Given the description of an element on the screen output the (x, y) to click on. 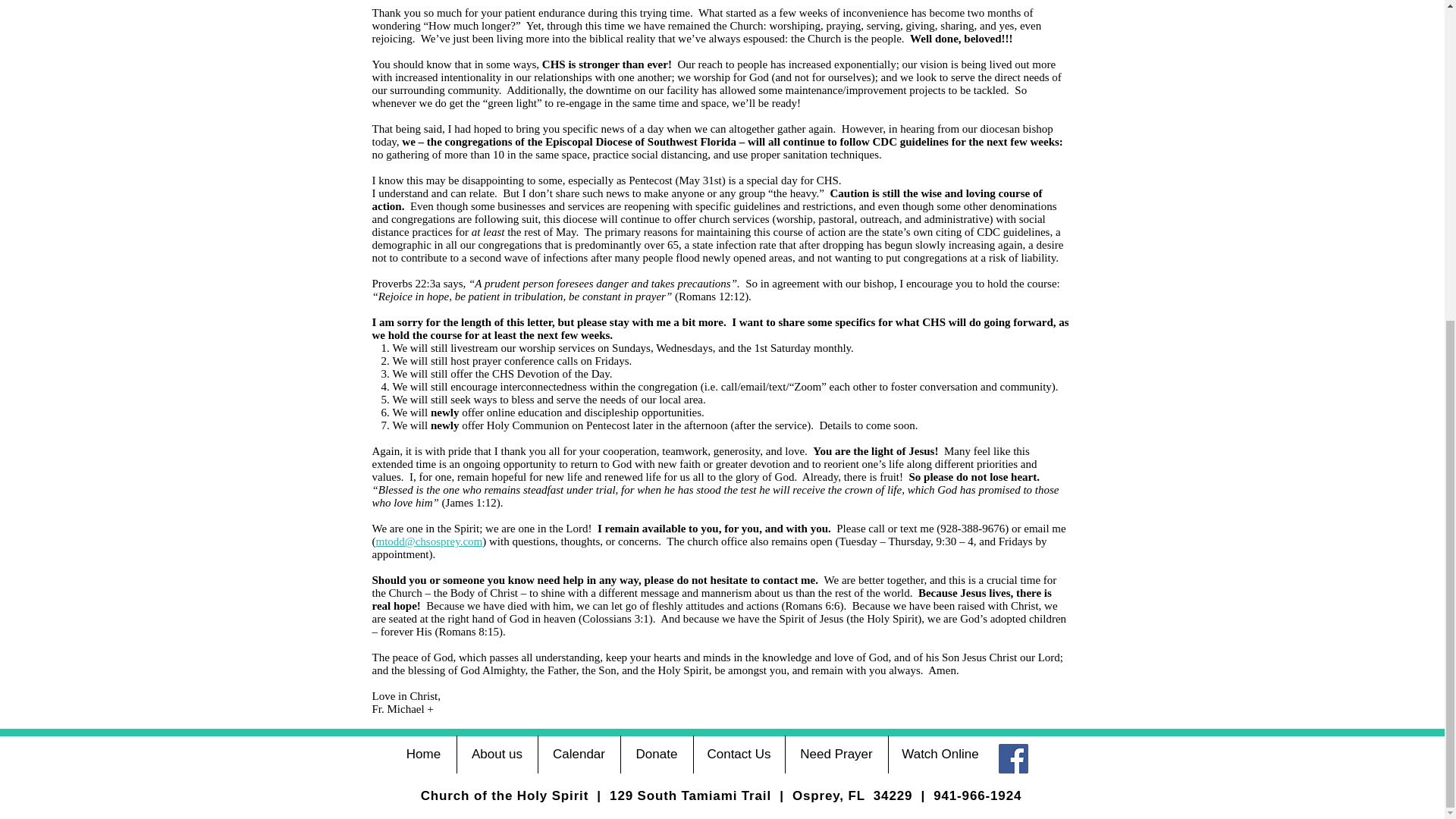
Home (424, 234)
About us (497, 234)
Calendar (579, 234)
